Given the description of an element on the screen output the (x, y) to click on. 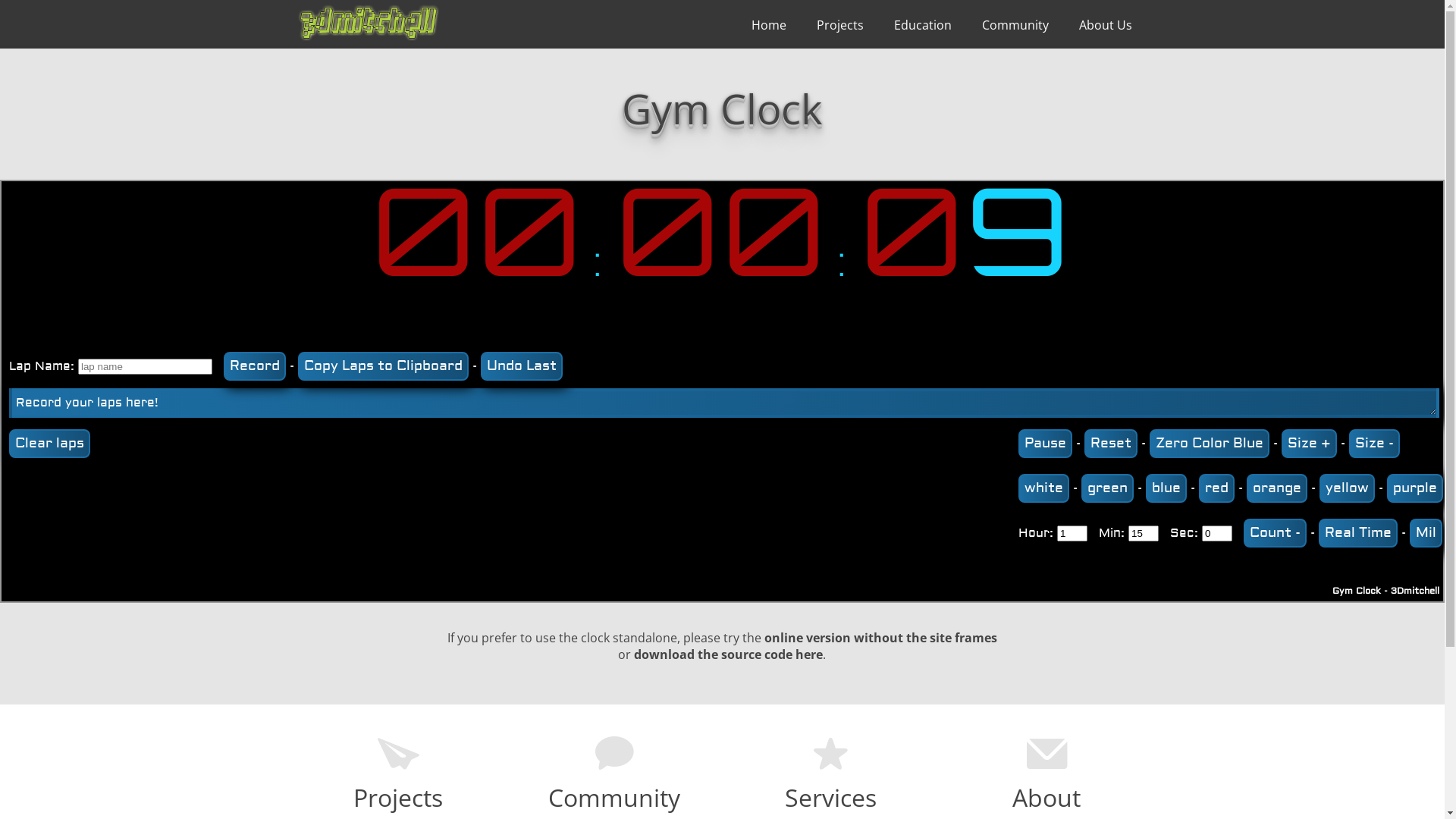
white Element type: text (1043, 487)
purple Element type: text (1414, 487)
Copy Laps to Clipboard Element type: text (383, 365)
Community Element type: text (614, 797)
download the source code here Element type: text (727, 654)
Education Element type: text (922, 24)
Projects Element type: text (839, 24)
blue Element type: text (1165, 487)
Record Element type: text (254, 365)
Clear laps Element type: text (49, 443)
Reset Element type: text (1110, 443)
red Element type: text (1216, 487)
online version without the site frames Element type: text (880, 637)
About Us Element type: text (1104, 24)
About Element type: text (1046, 797)
Services Element type: text (829, 797)
3Dmitchell Element type: text (1414, 590)
Real Time Element type: text (1357, 532)
http://3dmitchell.com/ Element type: hover (368, 22)
Undo Last Element type: text (521, 365)
Zero Color Blue Element type: text (1209, 443)
Home Element type: text (767, 24)
Count - Element type: text (1274, 532)
Community Element type: text (1014, 24)
Size + Element type: text (1308, 443)
Size - Element type: text (1374, 443)
Projects Element type: text (397, 797)
green Element type: text (1107, 487)
yellow Element type: text (1346, 487)
Mil Element type: text (1425, 532)
Pause Element type: text (1045, 443)
orange Element type: text (1276, 487)
